Given the description of an element on the screen output the (x, y) to click on. 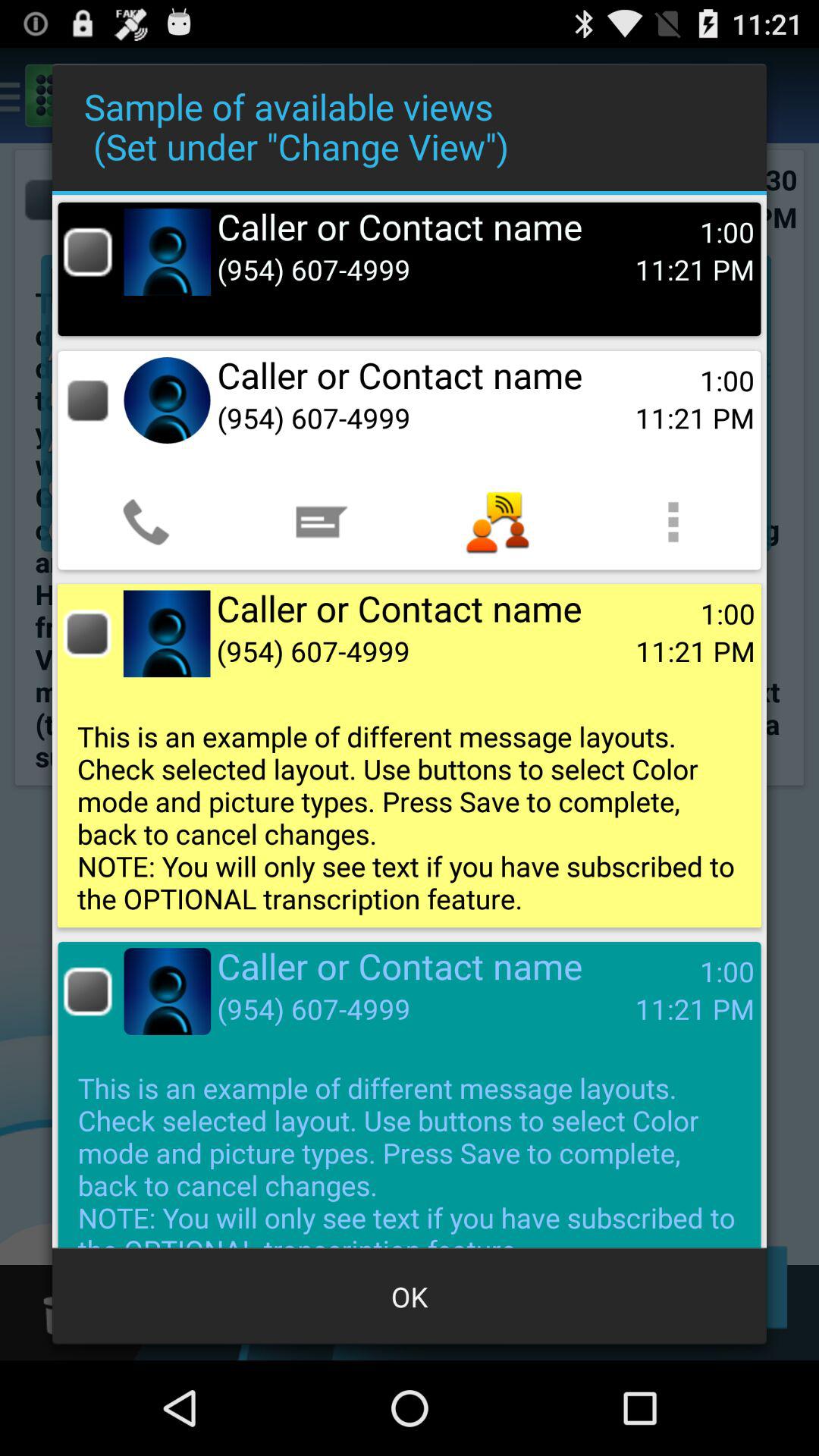
check (87, 633)
